Given the description of an element on the screen output the (x, y) to click on. 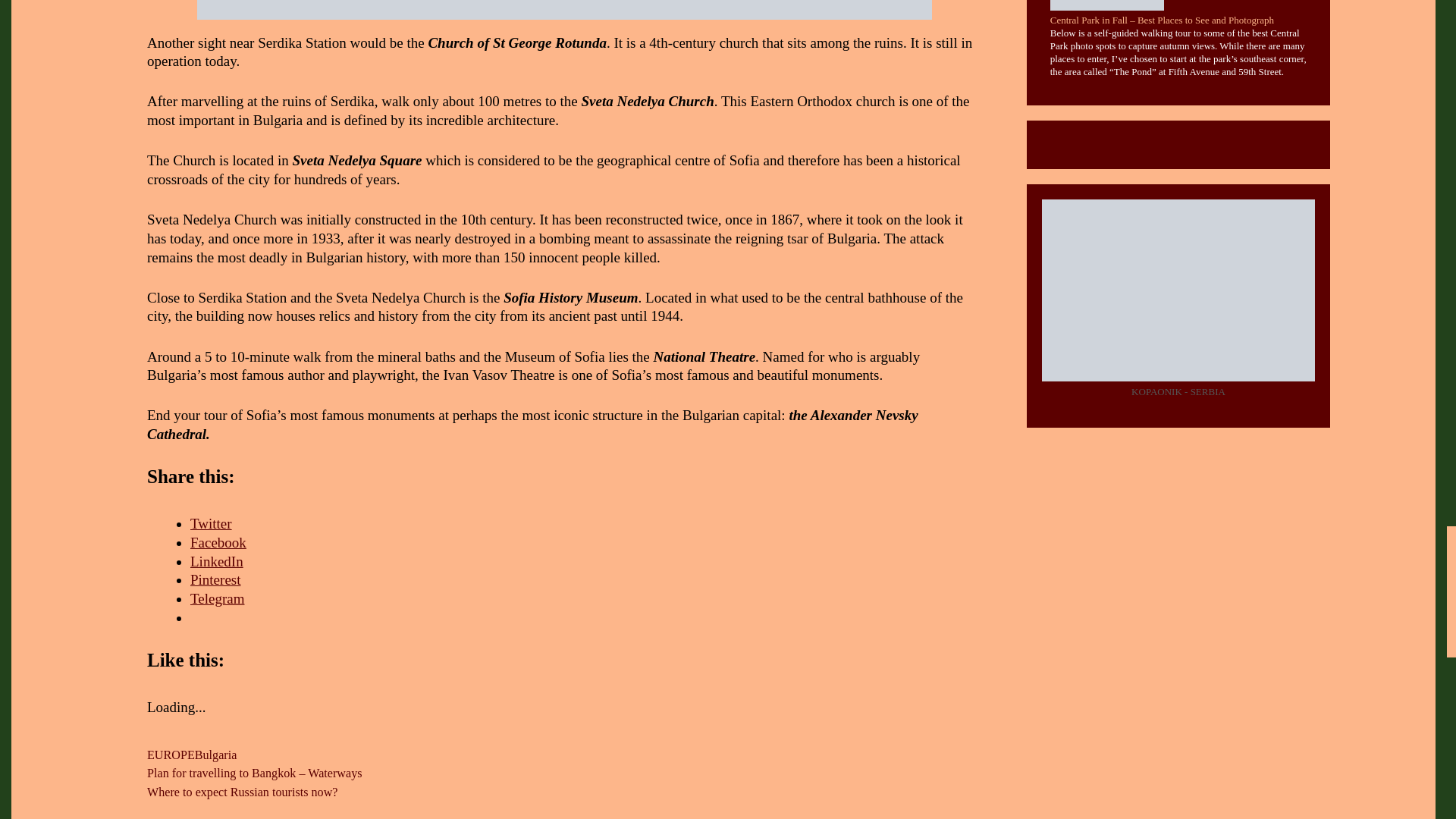
Telegram (217, 598)
Facebook (218, 542)
LinkedIn (216, 561)
Bulgaria (216, 754)
Where to expect Russian tourists now? (242, 791)
EUROPE (171, 754)
Click to share on LinkedIn (216, 561)
Click to share on Pinterest (215, 579)
Twitter (210, 523)
Click to share on Facebook (218, 542)
Click to share on Twitter (210, 523)
Pinterest (215, 579)
